Given the description of an element on the screen output the (x, y) to click on. 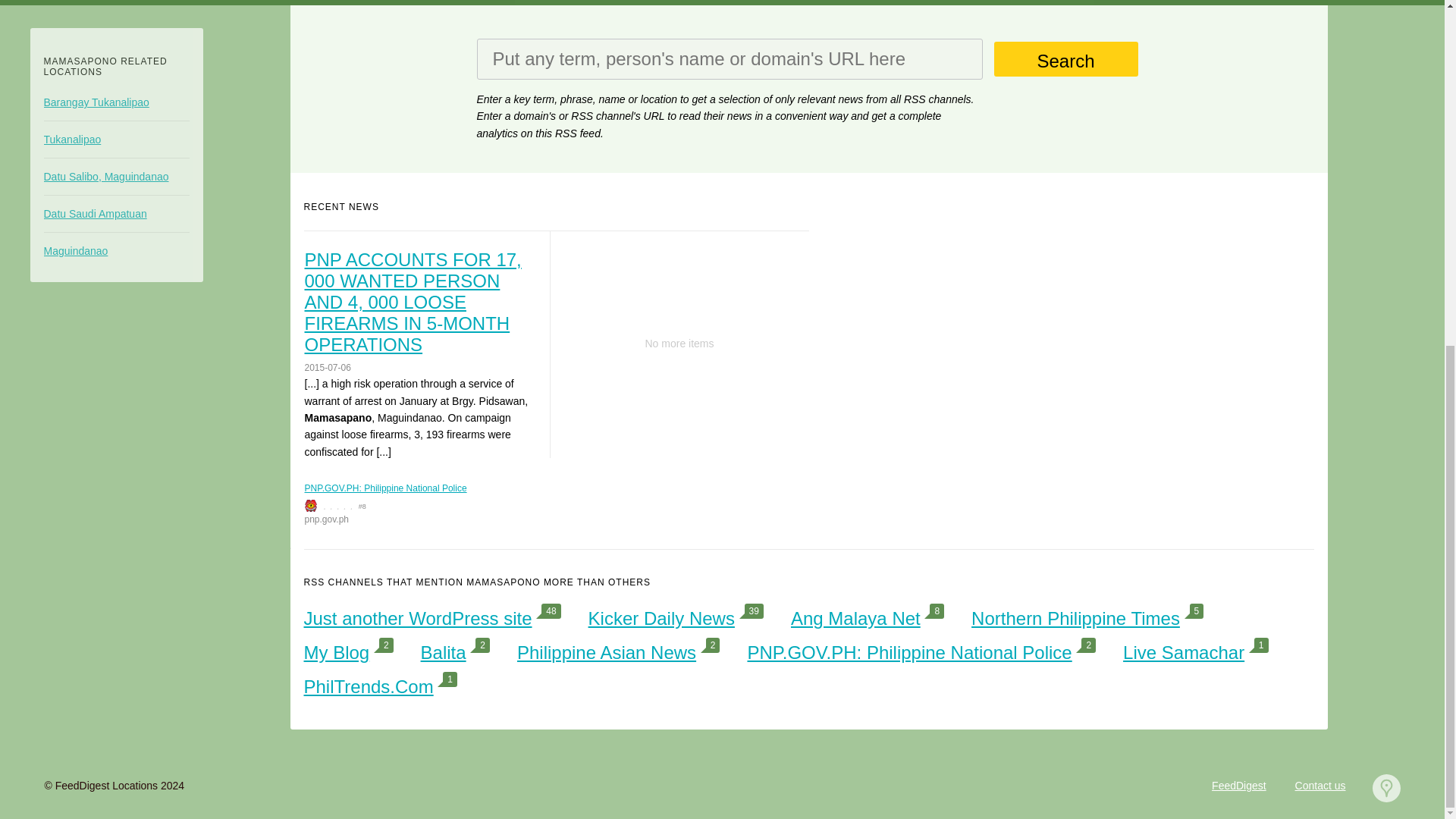
Barangay Tukanalipao (116, 102)
PNP.GOV.PH: Philippine National Police (908, 652)
Ang Malaya Net (855, 618)
Tukanalipao (116, 139)
Search (1064, 58)
Kicker Daily News (661, 618)
Datu Salibo, Maguindanao (116, 176)
Balita (442, 652)
Philippine Asian News (605, 652)
